Given the description of an element on the screen output the (x, y) to click on. 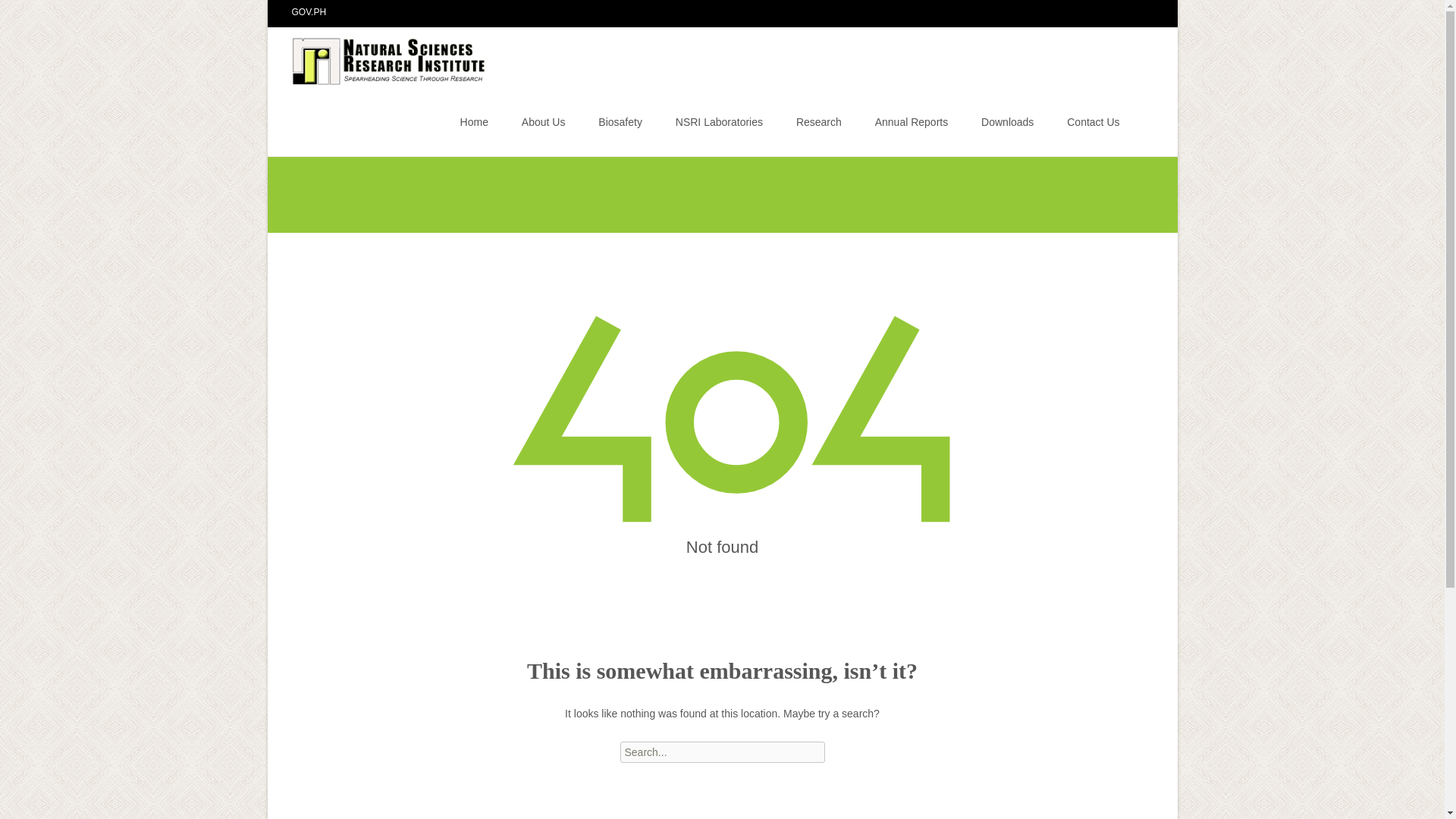
Annual Reports (912, 121)
Natural Sciences Research Institute (378, 57)
Search for: (722, 752)
NSRI Laboratories (718, 121)
Search (18, 14)
Search (34, 14)
GOV.PH (308, 11)
Search for: (1139, 123)
